Given the description of an element on the screen output the (x, y) to click on. 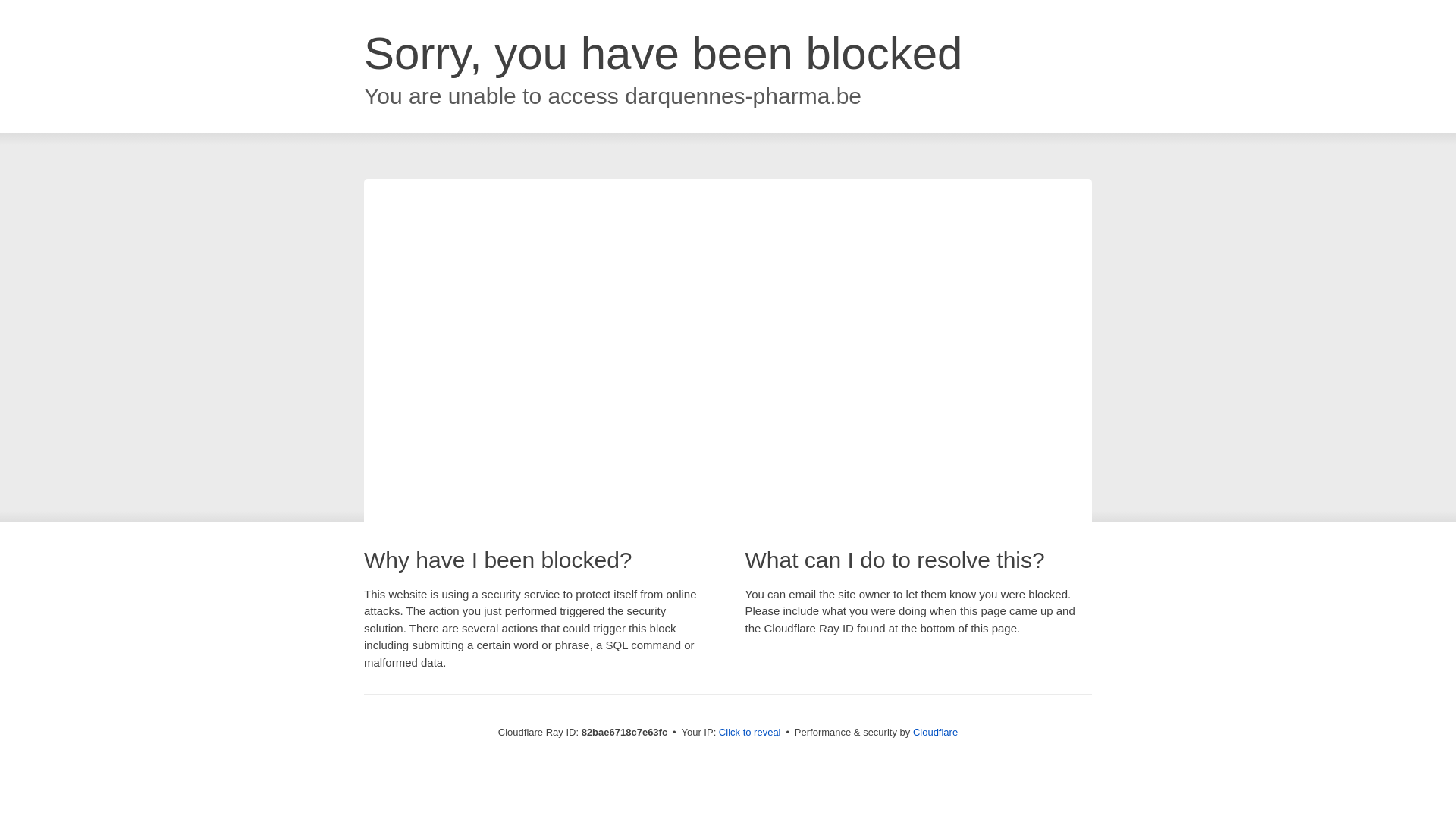
Cloudflare Element type: text (935, 731)
Click to reveal Element type: text (749, 732)
